Given the description of an element on the screen output the (x, y) to click on. 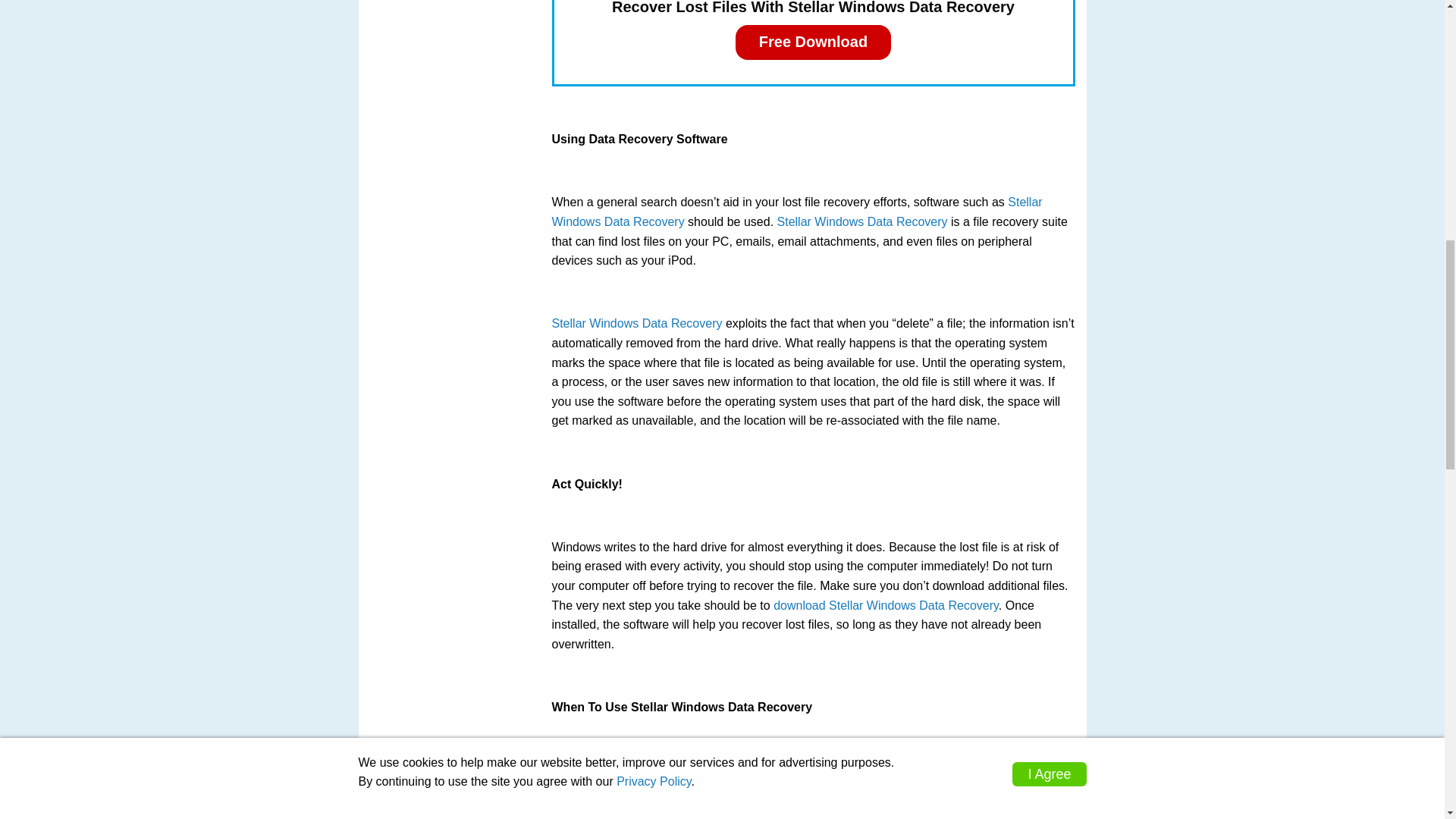
Free Download (813, 42)
download Stellar Windows Data Recovery (885, 604)
Stellar Windows Data Recovery (862, 221)
Stellar Windows Data Recovery (636, 323)
Stellar Windows Data Recovery (796, 211)
